Given the description of an element on the screen output the (x, y) to click on. 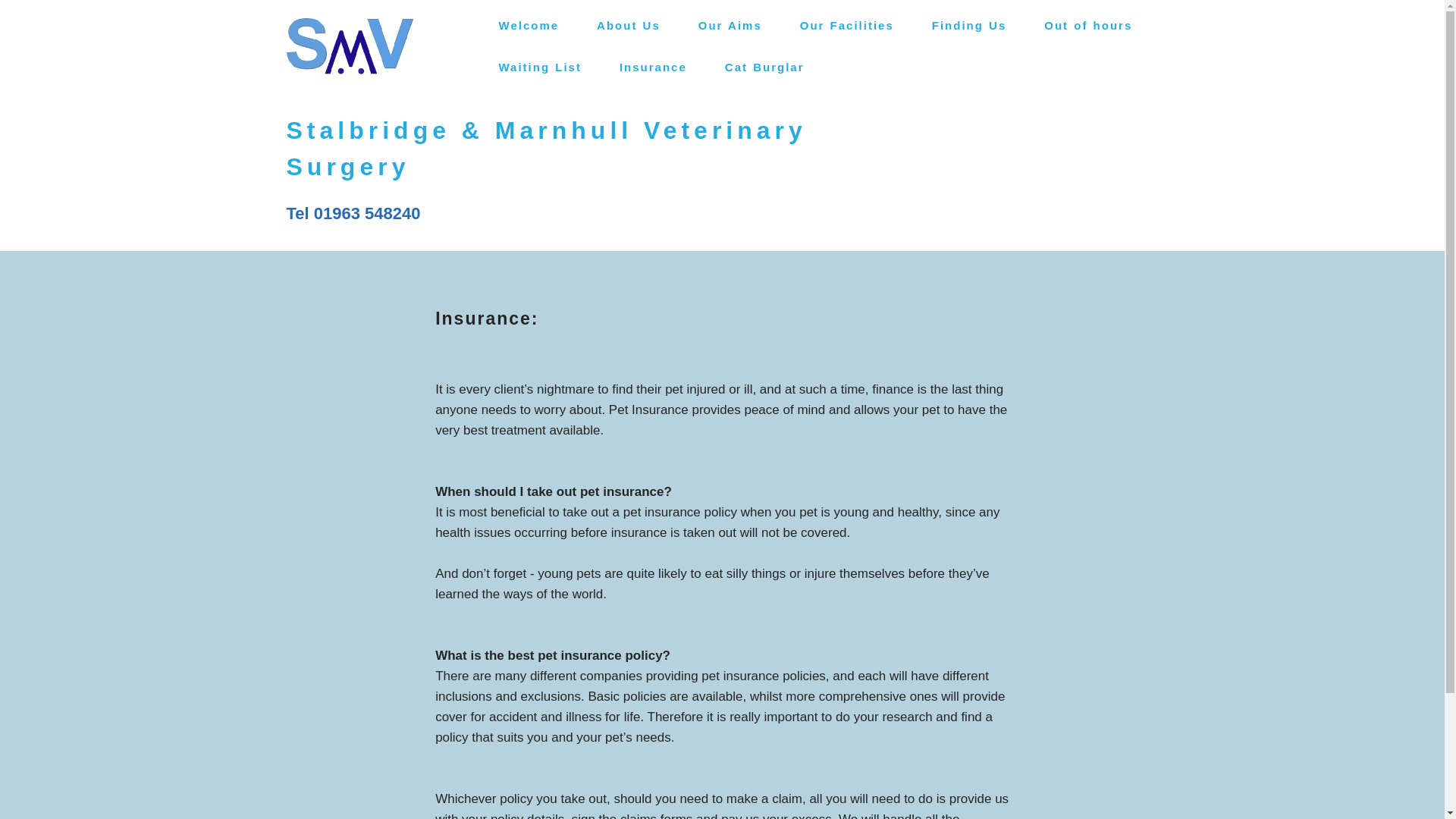
Our Aims (729, 24)
Cat Burglar (764, 66)
Finding Us (969, 24)
About Us (627, 24)
Out of hours (1088, 24)
SMV Logo (349, 46)
Insurance (652, 66)
Our Facilities (846, 24)
Welcome (529, 24)
Waiting List (539, 66)
